Given the description of an element on the screen output the (x, y) to click on. 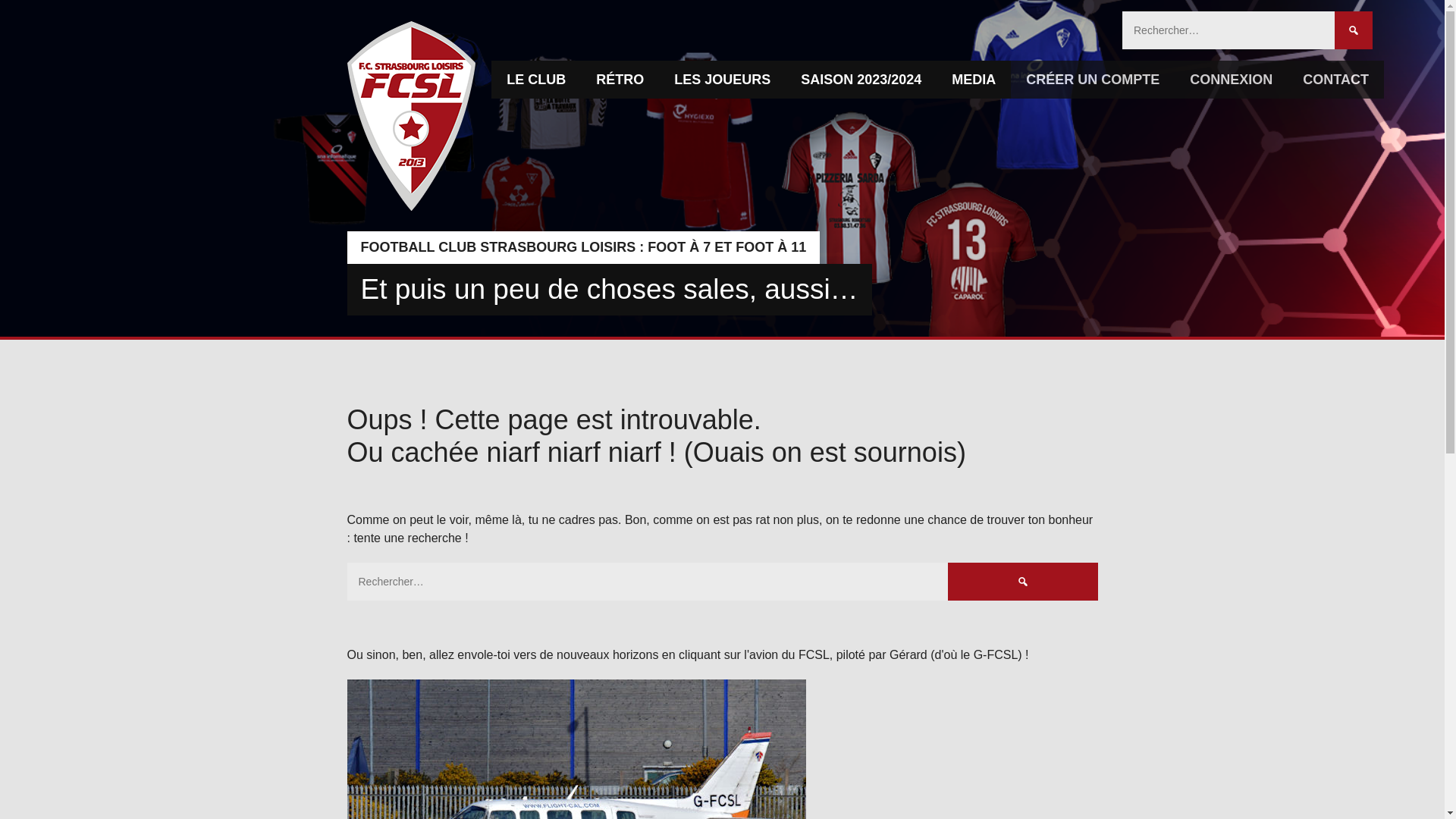
LE CLUB (536, 79)
Rechercher (1022, 581)
Rechercher (1354, 30)
